Given the description of an element on the screen output the (x, y) to click on. 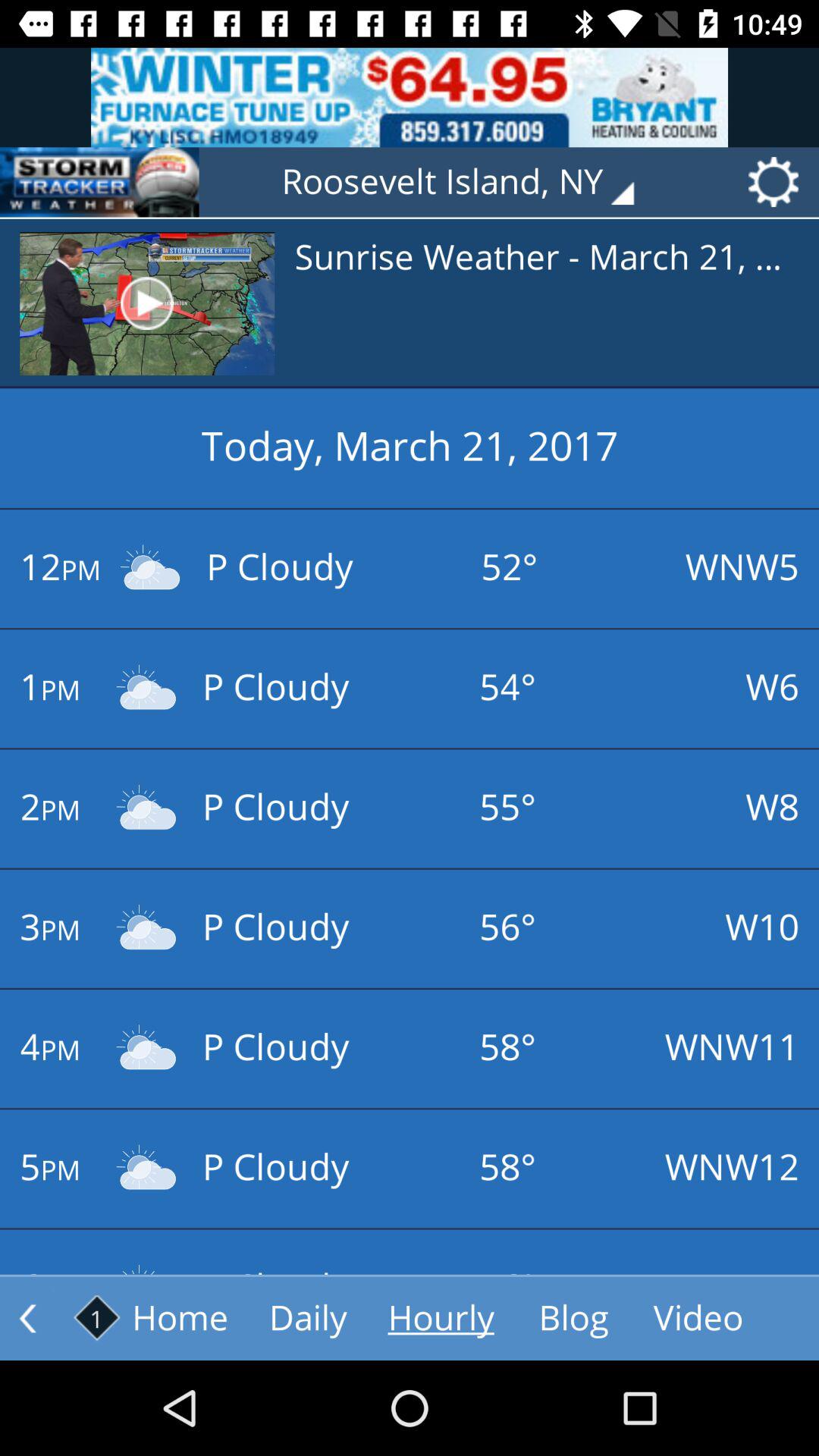
go back (27, 1318)
